Given the description of an element on the screen output the (x, y) to click on. 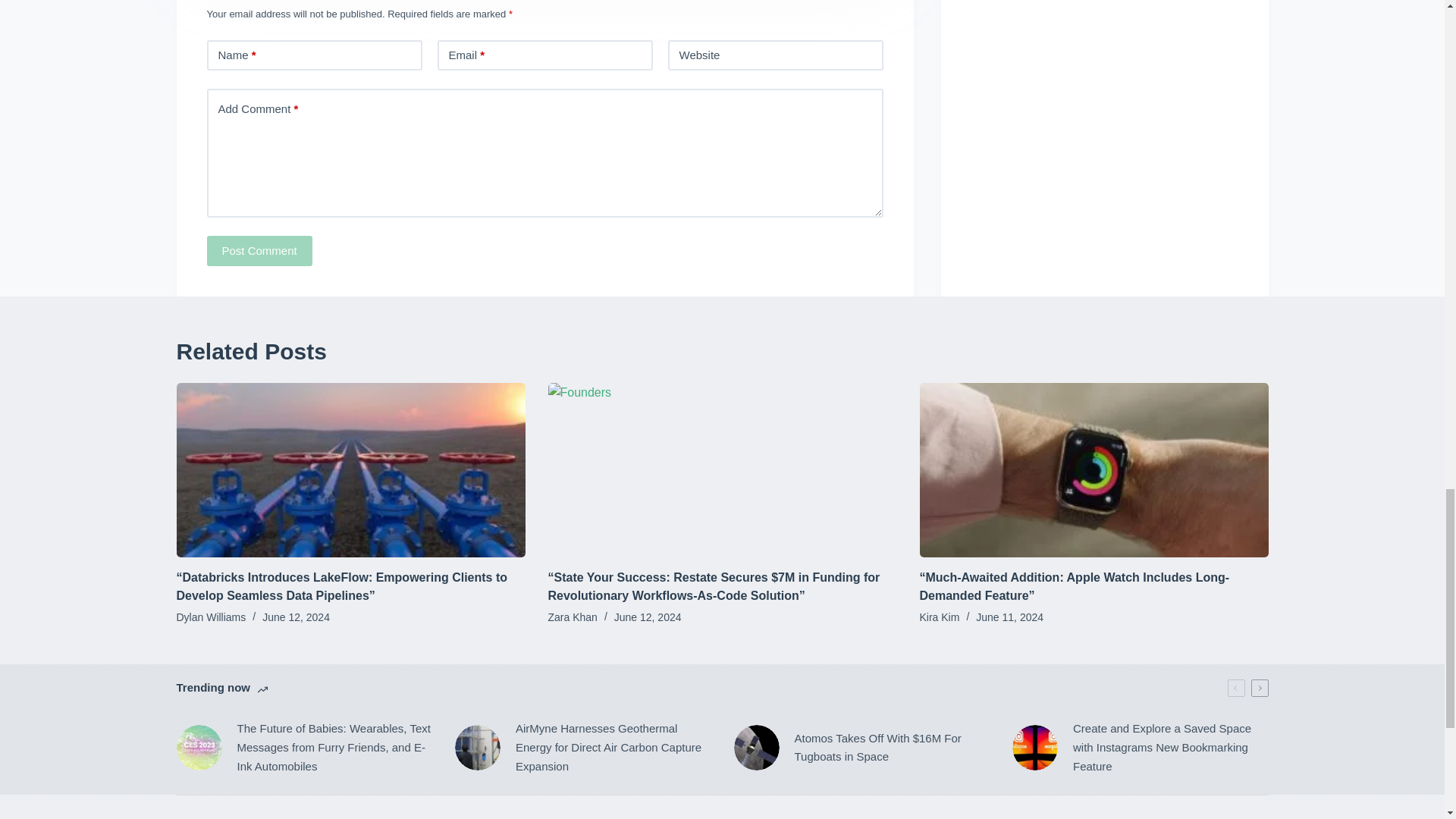
Posts by Dylan Williams (211, 616)
Posts by Kira Kim (938, 616)
Posts by Zara Khan (571, 616)
